Given the description of an element on the screen output the (x, y) to click on. 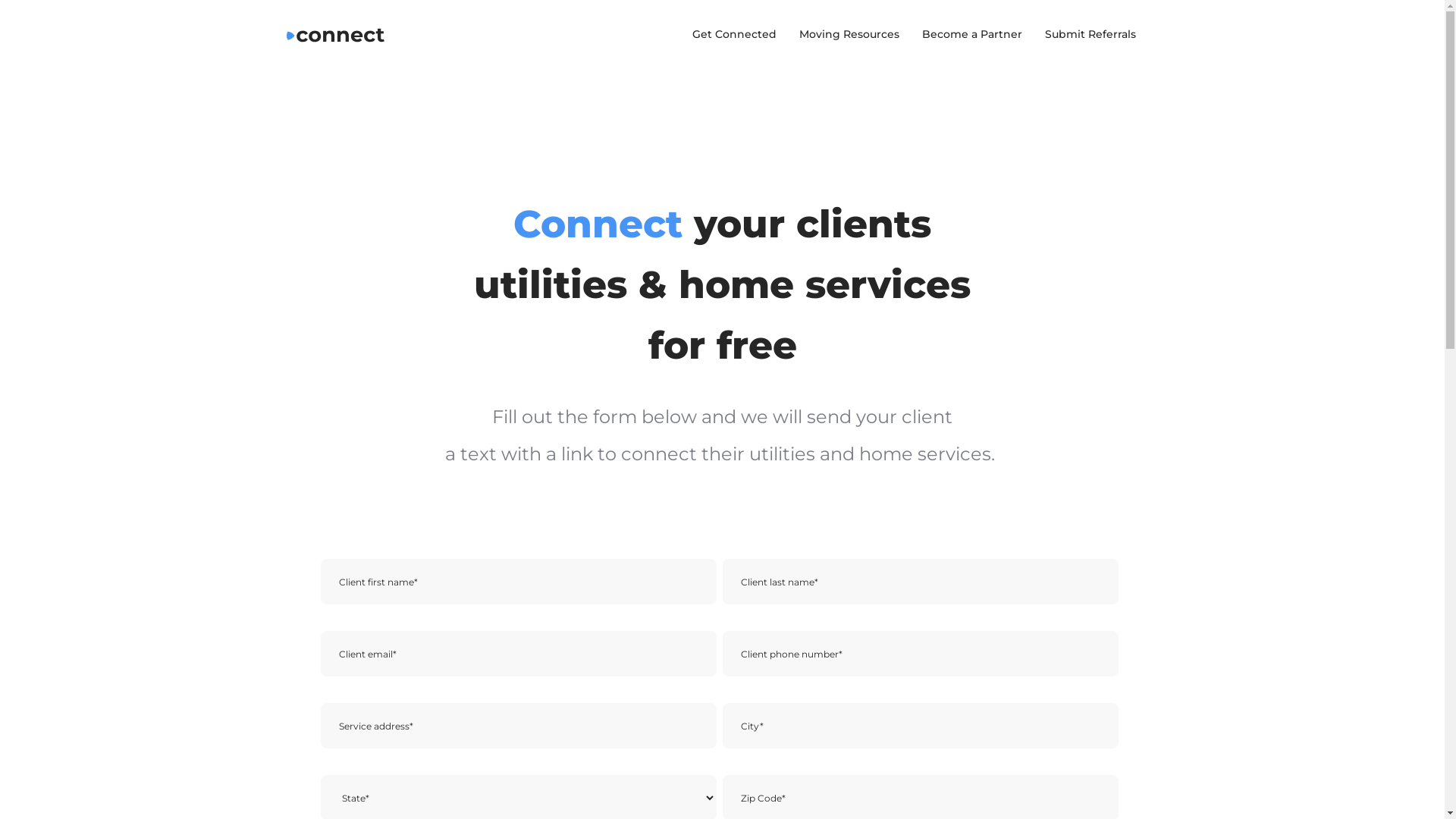
Moving Resources Element type: text (848, 34)
Become a Partner Element type: text (971, 34)
Submit Referrals Element type: text (1089, 34)
logo-connect Element type: hover (335, 35)
Get Connected Element type: text (733, 34)
